Given the description of an element on the screen output the (x, y) to click on. 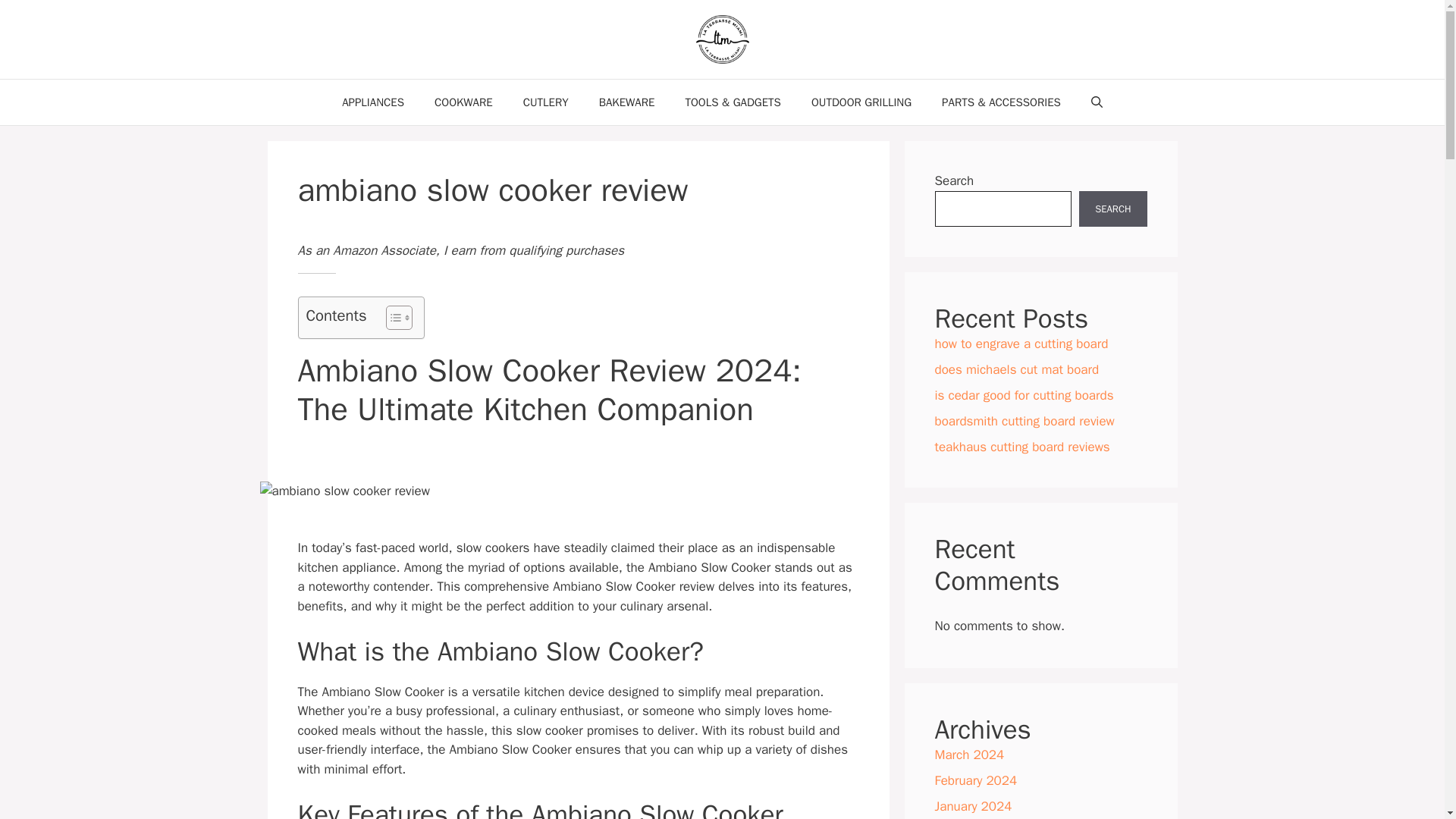
APPLIANCES (372, 102)
OUTDOOR GRILLING (861, 102)
COOKWARE (463, 102)
CUTLERY (545, 102)
BAKEWARE (626, 102)
